Given the description of an element on the screen output the (x, y) to click on. 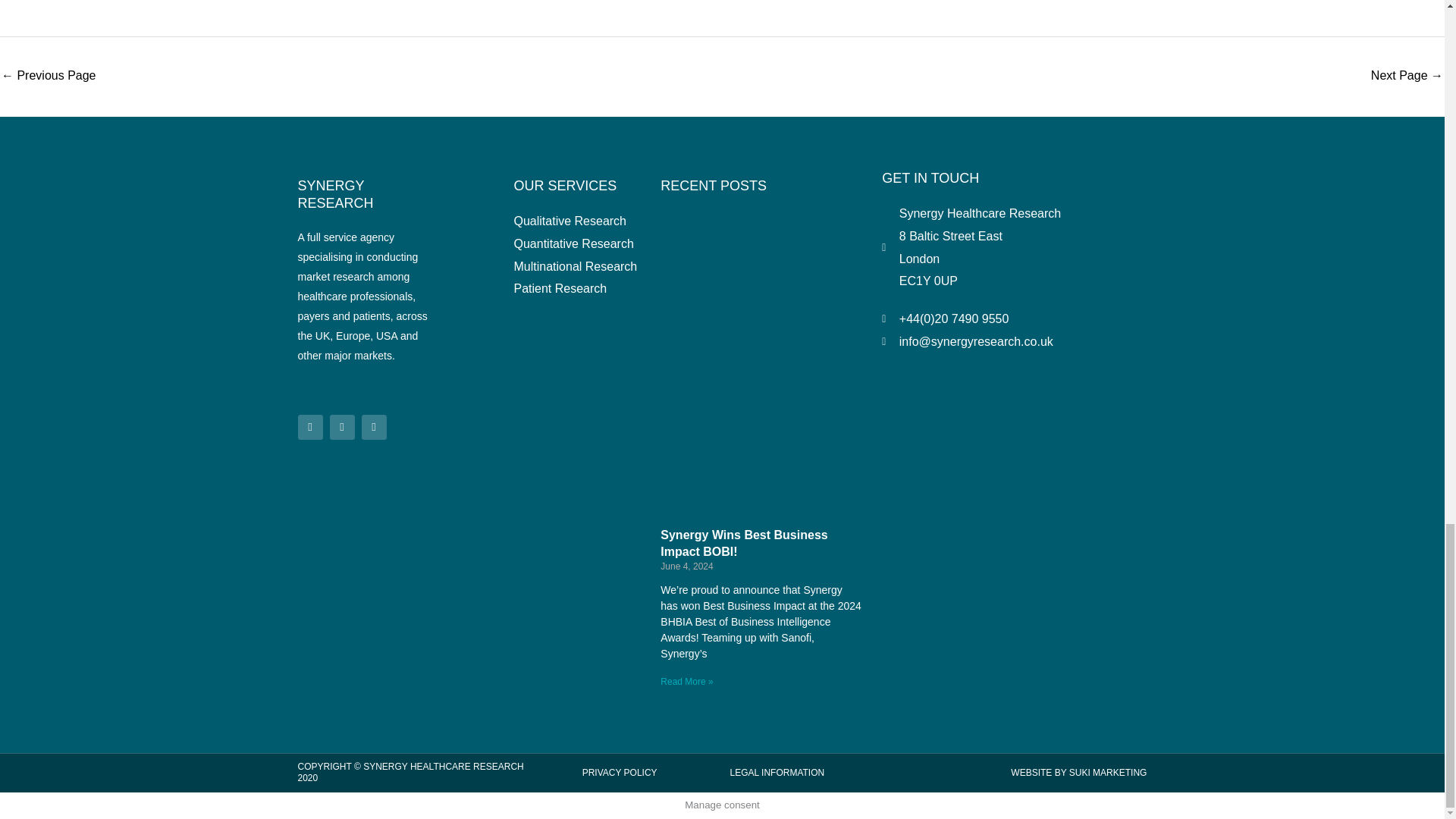
Meet The Team (48, 76)
Quantitative Research (1406, 76)
